Given the description of an element on the screen output the (x, y) to click on. 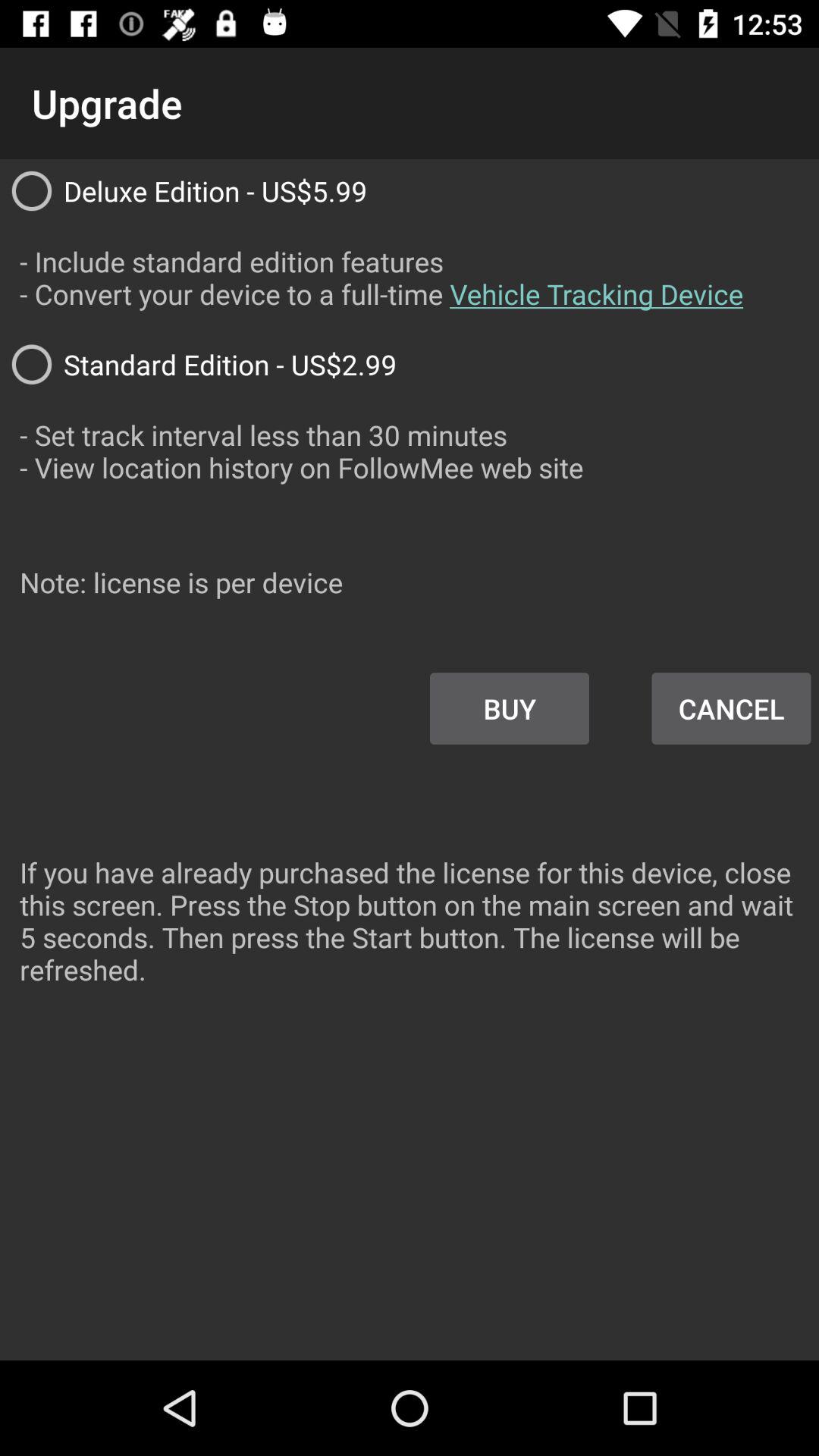
click buy (509, 709)
click on cancel (731, 709)
